Given the description of an element on the screen output the (x, y) to click on. 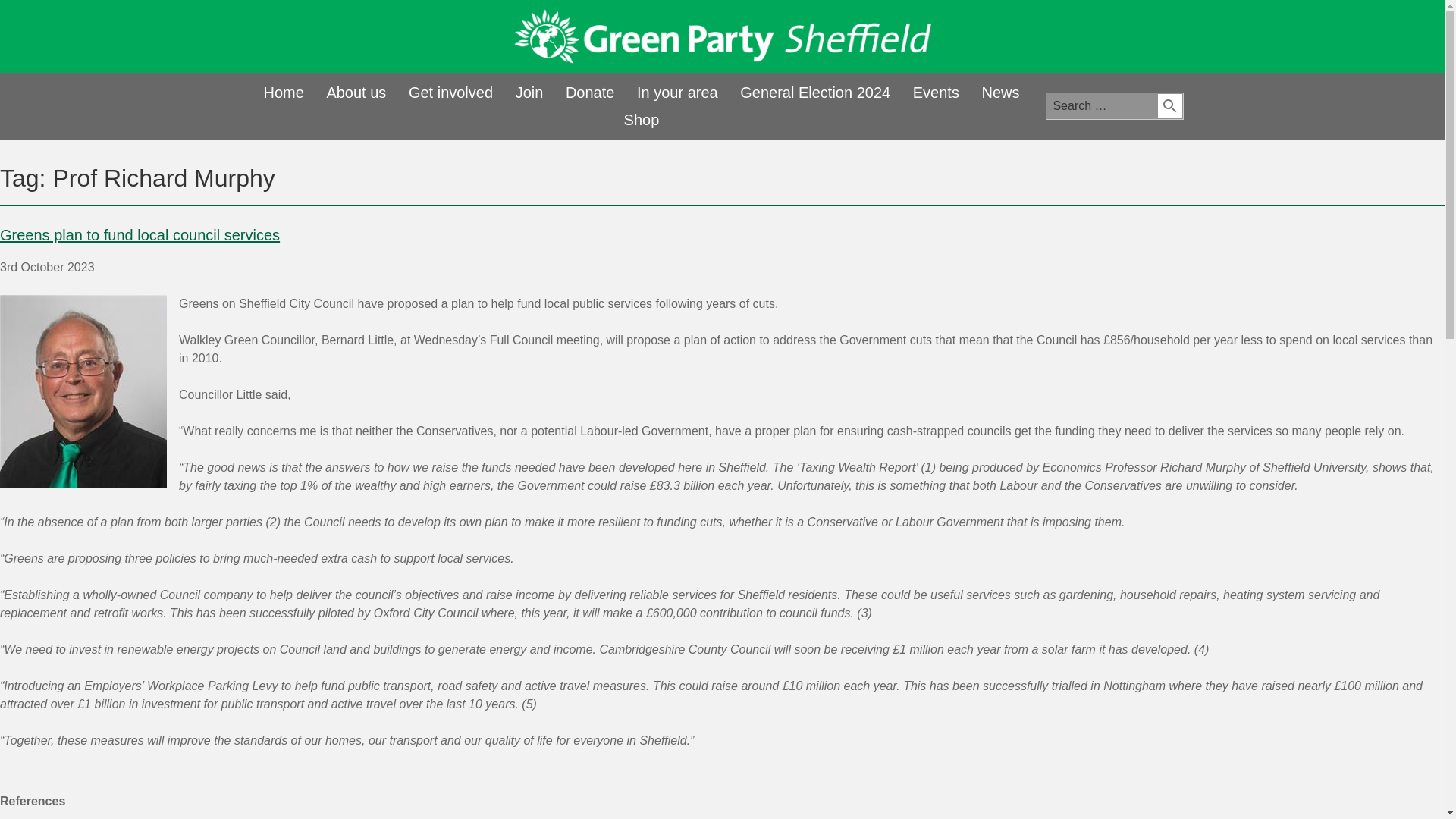
Search (1168, 105)
Search (1168, 105)
About us (355, 92)
News (1000, 92)
Facebook (1050, 37)
Search (1168, 105)
Join (529, 92)
Shop (641, 119)
Twitter (1090, 37)
YouTube (1129, 37)
